Given the description of an element on the screen output the (x, y) to click on. 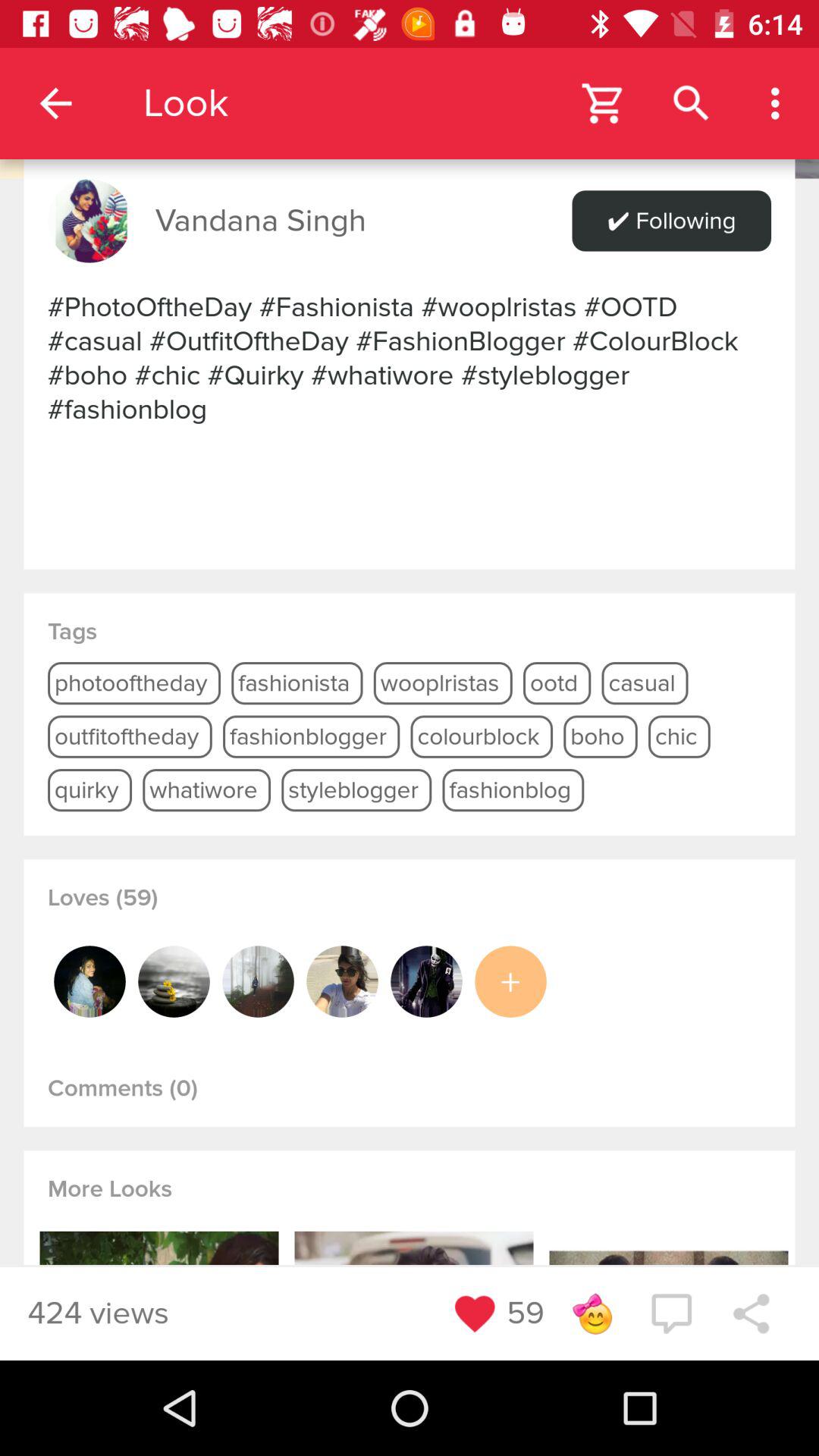
create comment (671, 1313)
